Given the description of an element on the screen output the (x, y) to click on. 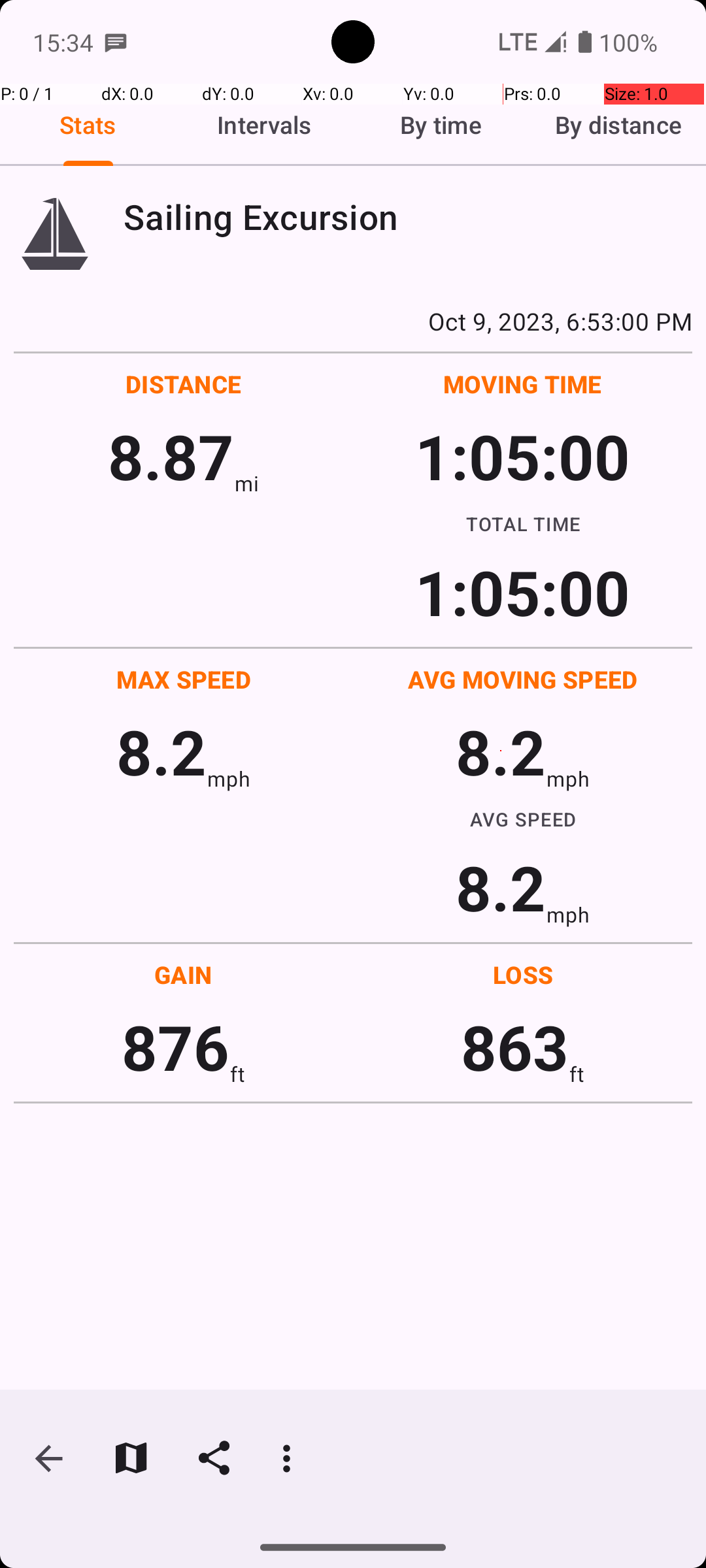
Sailing Excursion Element type: android.widget.TextView (407, 216)
Oct 9, 2023, 6:53:00 PM Element type: android.widget.TextView (352, 320)
8.87 Element type: android.widget.TextView (170, 455)
1:05:00 Element type: android.widget.TextView (522, 455)
8.2 Element type: android.widget.TextView (161, 750)
876 Element type: android.widget.TextView (175, 1045)
863 Element type: android.widget.TextView (514, 1045)
